Given the description of an element on the screen output the (x, y) to click on. 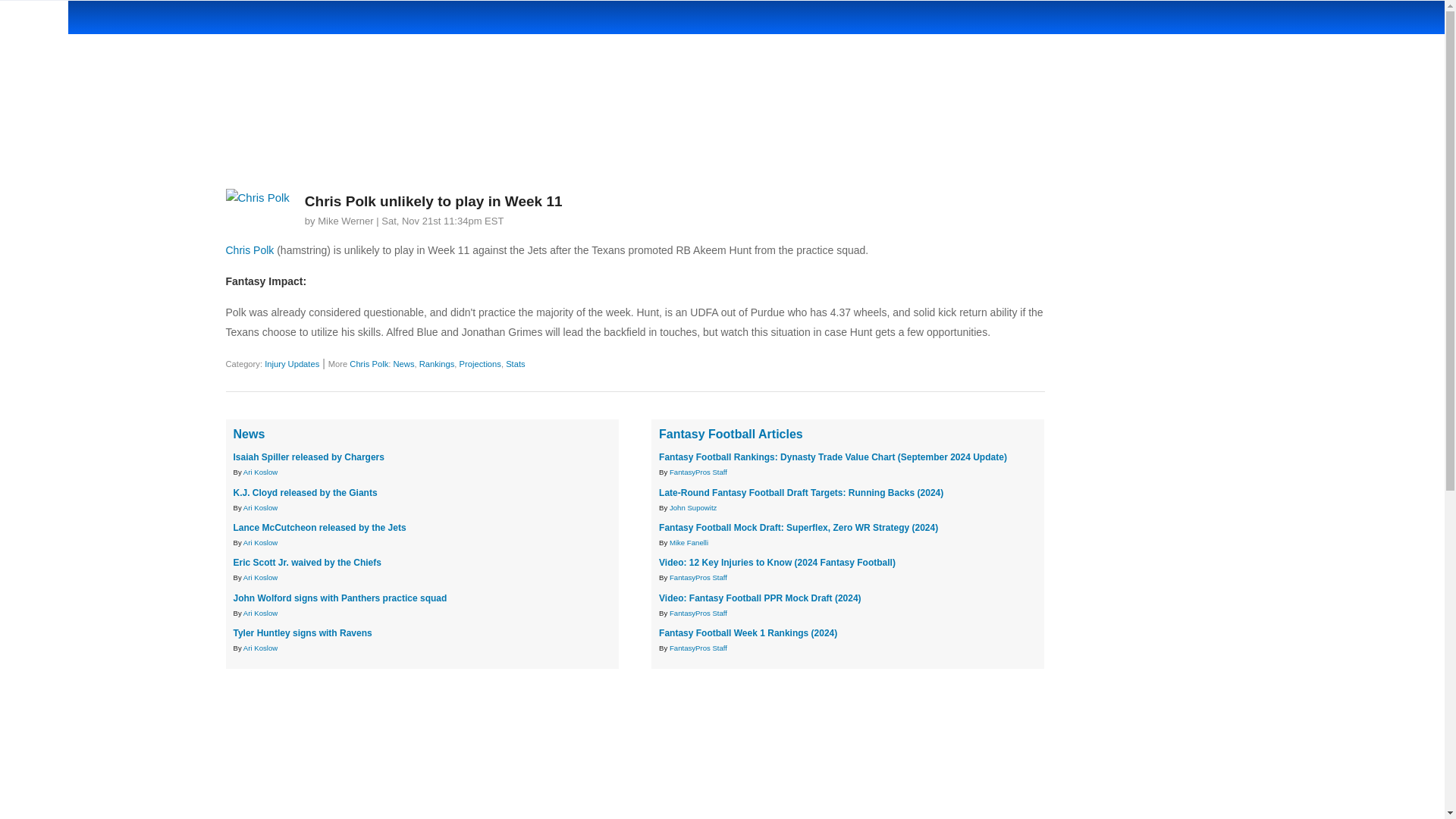
K.J. Cloyd released by the Giants (304, 492)
Projections (480, 363)
Ari Koslow (260, 542)
Stats (515, 363)
Fantasy Football Articles (731, 433)
Ari Koslow (260, 647)
Chris Polk (250, 250)
Chris Polk (368, 363)
John Wolford signs with Panthers practice squad (339, 597)
Lance McCutcheon released by the Jets (319, 527)
